Given the description of an element on the screen output the (x, y) to click on. 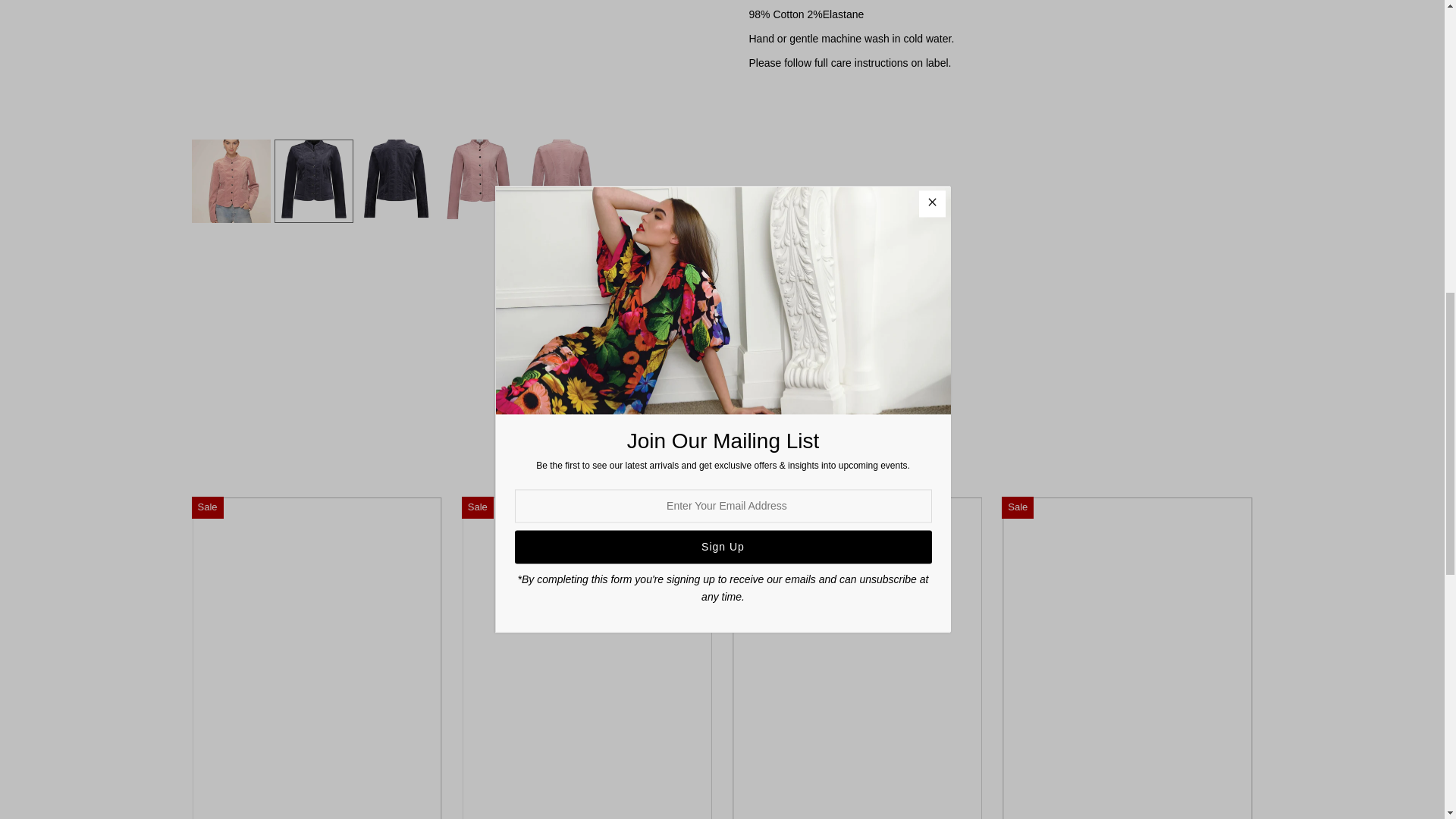
Jewelled Boatneck Top (1126, 657)
Abstract Tunic Top (857, 657)
Abstract Print A-Line Dress (316, 657)
Tunic Dress (587, 657)
